Given the description of an element on the screen output the (x, y) to click on. 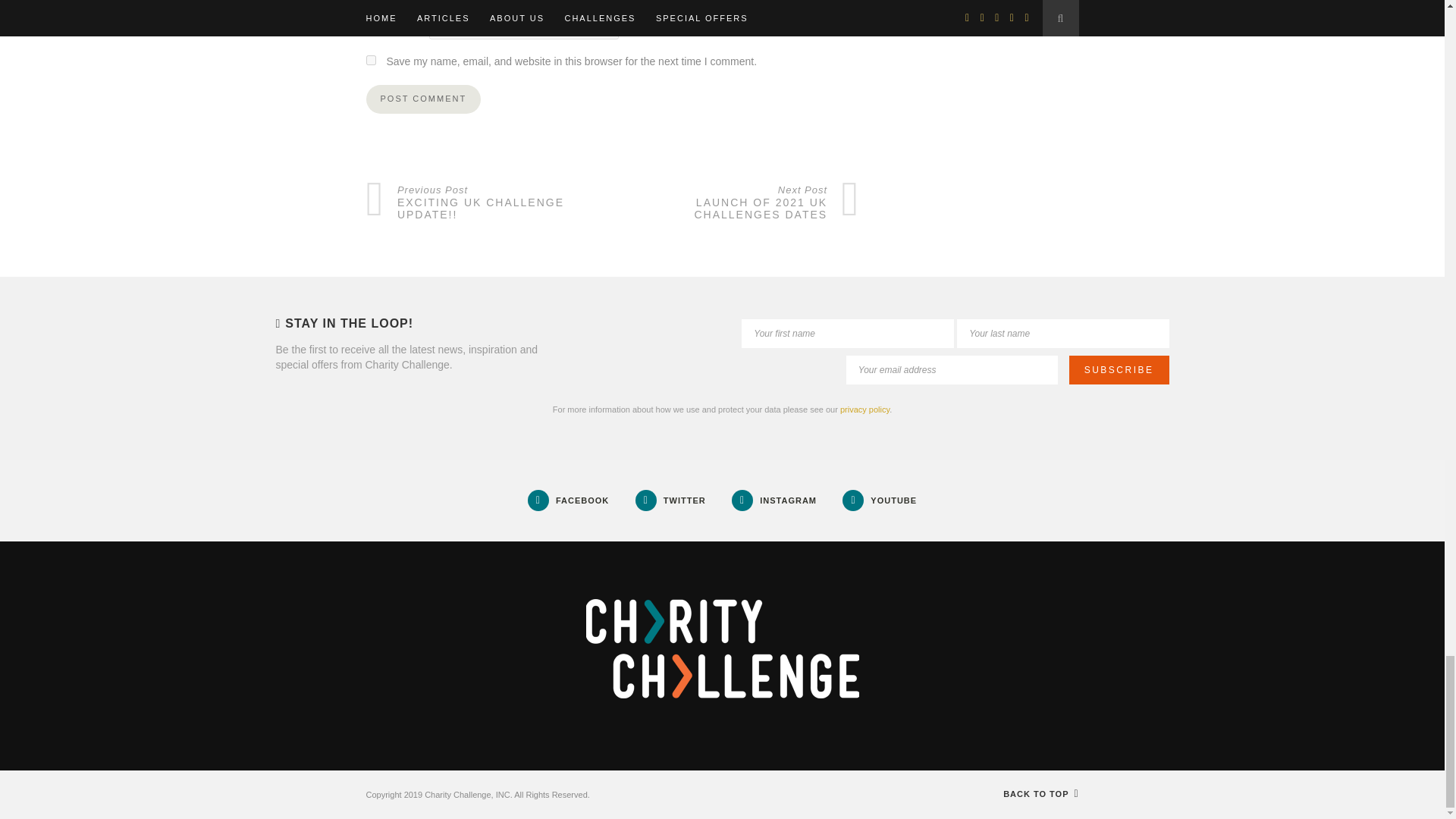
Subscribe (1118, 369)
yes (370, 60)
Post Comment (422, 99)
